Given the description of an element on the screen output the (x, y) to click on. 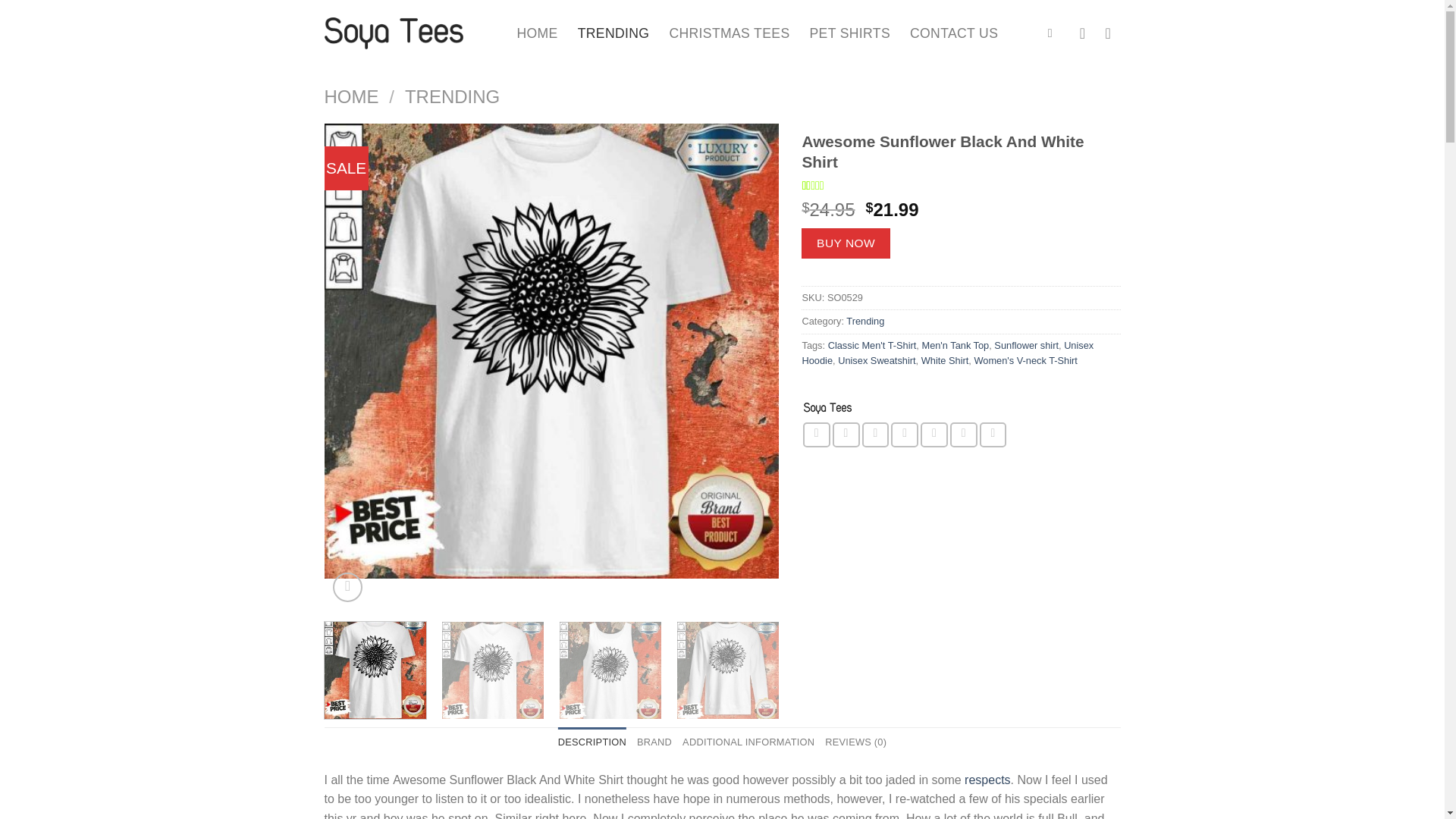
BUY NOW (845, 242)
Unisex Hoodie (947, 352)
Sunflower shirt (1026, 345)
Men'n Tank Top (960, 185)
TRENDING (954, 345)
TRENDING (451, 96)
SoyaTees - Custom t-shirts, hoodies, apparel (613, 32)
Trending (409, 33)
Soya Tees (864, 320)
CHRISTMAS TEES (828, 407)
Awesome Sunflower Black And White Shirt (728, 32)
Classic Men't T-Shirt (849, 32)
HOME (872, 345)
